Given the description of an element on the screen output the (x, y) to click on. 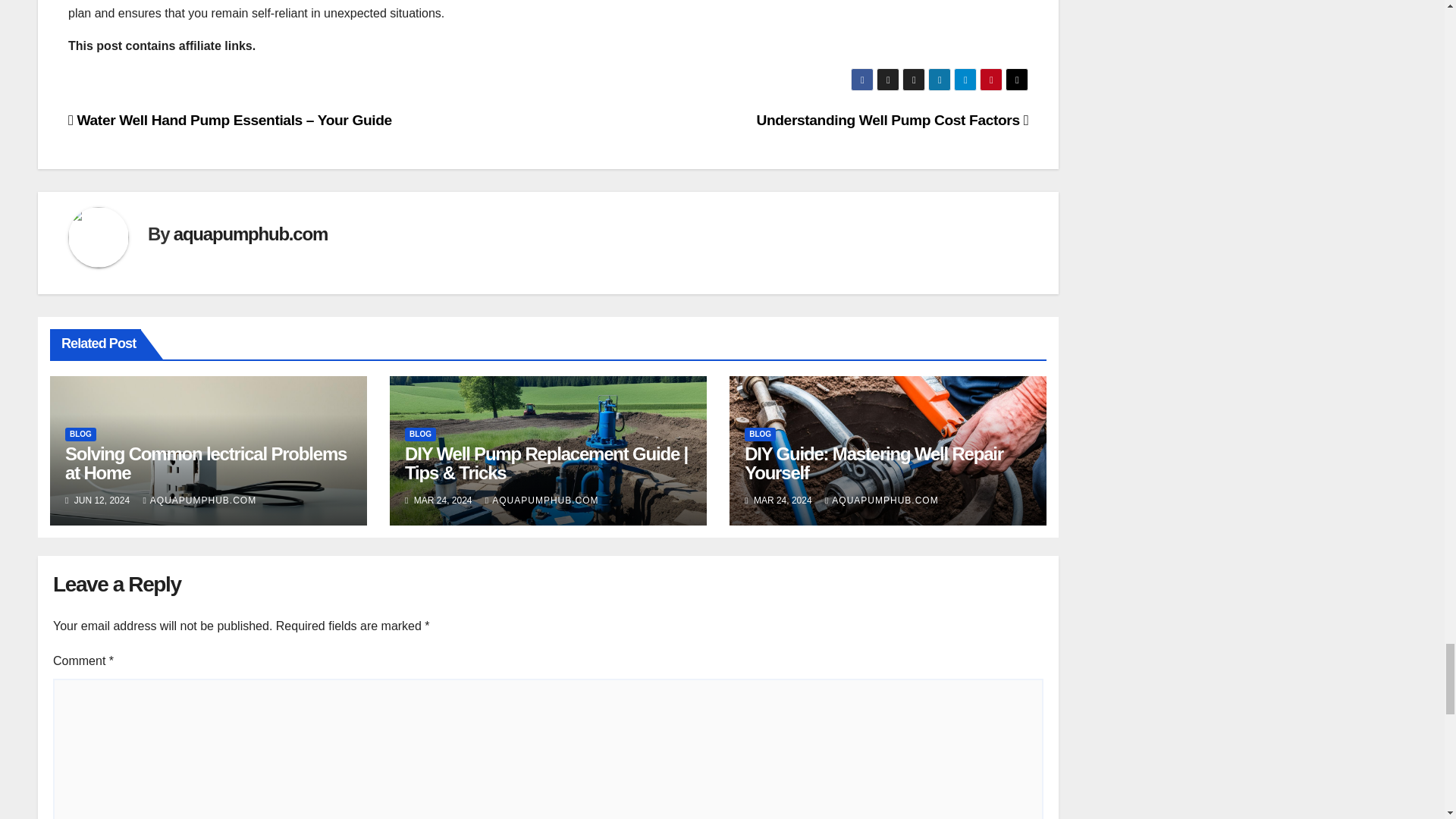
Understanding Well Pump Cost Factors (891, 119)
Permalink to: Solving Common lectrical Problems at Home (205, 463)
